Given the description of an element on the screen output the (x, y) to click on. 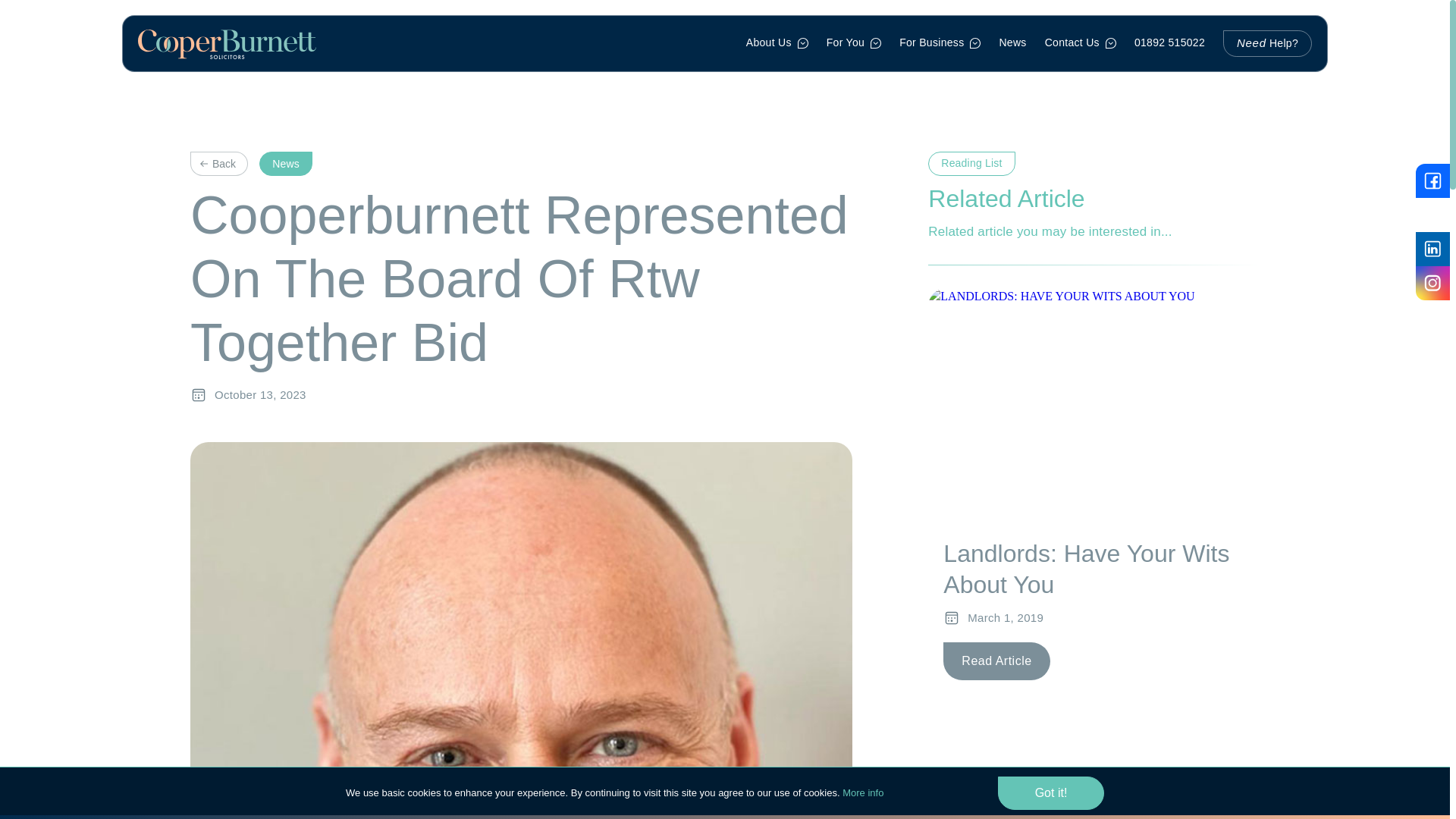
Need Help? (1267, 43)
01892 515022 (1169, 43)
